Given the description of an element on the screen output the (x, y) to click on. 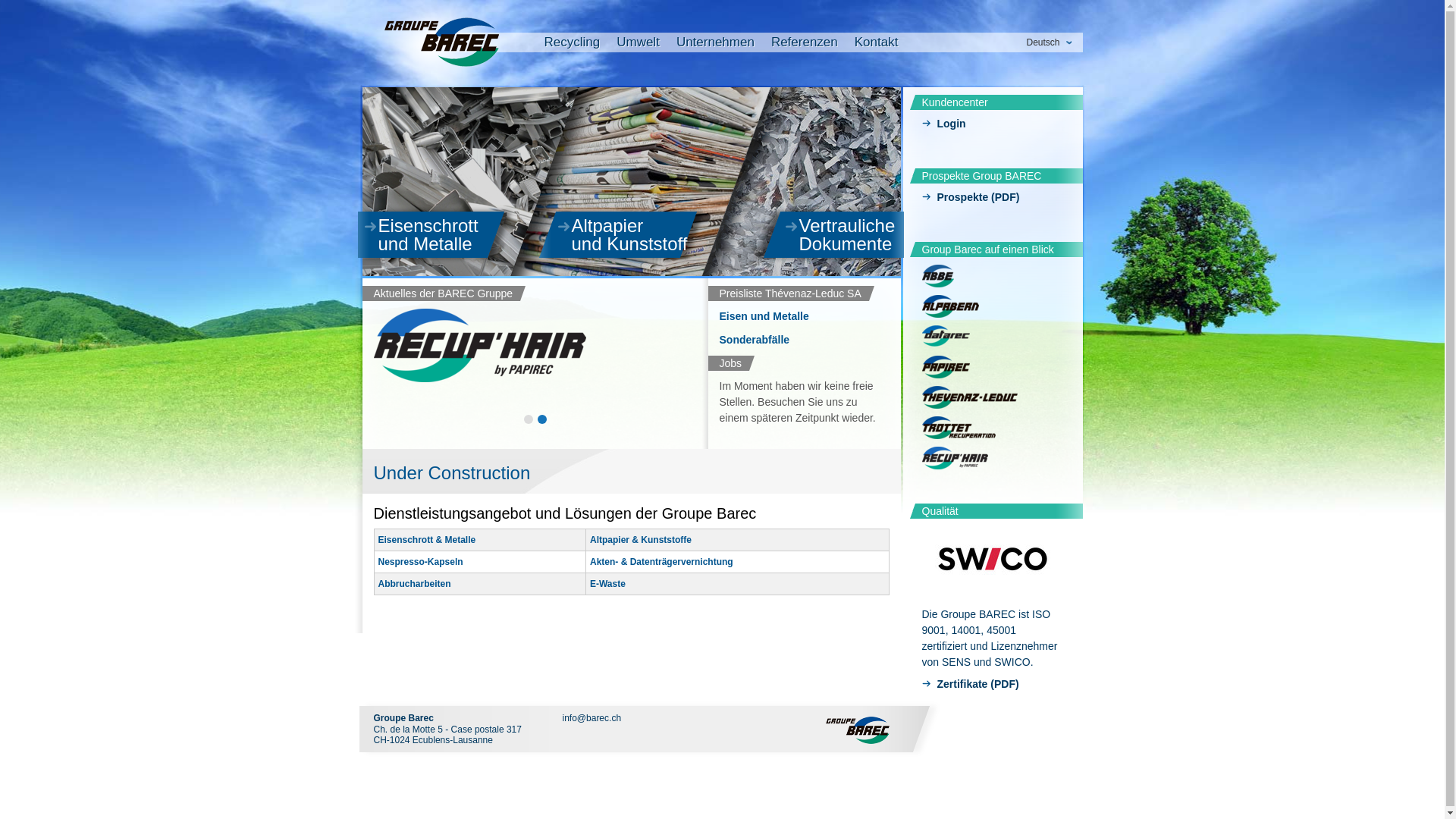
Referenzen Element type: text (804, 44)
Prospekte (PDF) Element type: text (992, 199)
Eisenschrott & Metalle Element type: text (426, 539)
Deutsch Element type: text (1048, 42)
Zertifikate (PDF) Element type: text (992, 685)
Altpapier
und Kunststoff Element type: text (633, 234)
Vertrauliche
Dokumente Element type: text (844, 234)
Umwelt Element type: text (637, 44)
Unternehmen Element type: text (715, 44)
Nespresso-Kapseln Element type: text (419, 561)
Eisen und Metalle Element type: text (763, 316)
E-Waste Element type: text (607, 583)
Kontakt Element type: text (876, 44)
Eisenschrott
und Metalle Element type: text (439, 234)
Abbrucharbeiten Element type: text (413, 583)
Recycling Element type: text (572, 44)
Altpapier & Kunststoffe Element type: text (640, 539)
Login Element type: text (992, 125)
